Given the description of an element on the screen output the (x, y) to click on. 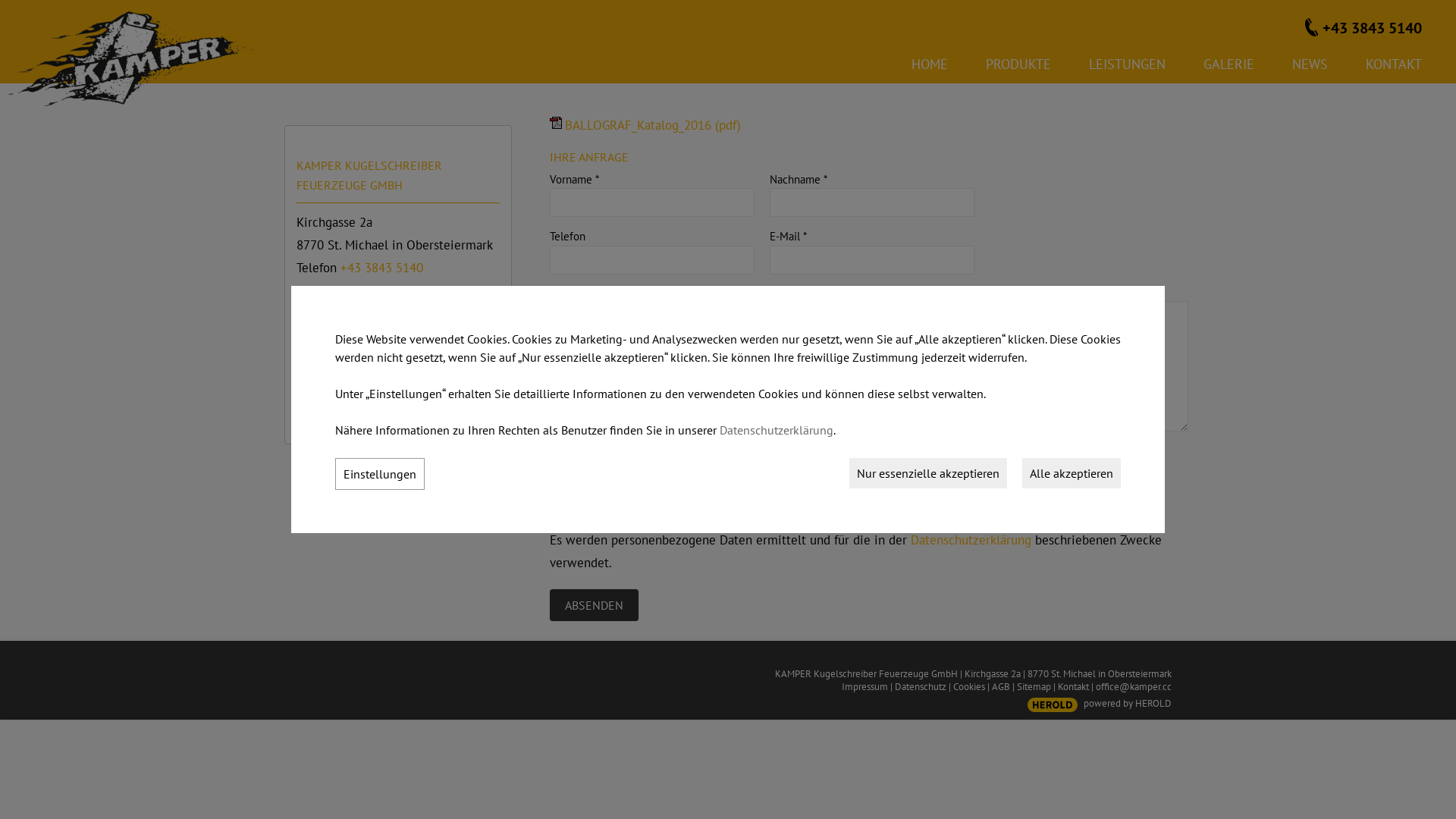
GALERIE Element type: text (1228, 67)
Absenden Element type: text (593, 605)
+43 3843 5140 Element type: text (381, 267)
LEISTUNGEN Element type: text (1126, 67)
NEWS Element type: text (1309, 67)
Nur essenzielle akzeptieren Element type: text (928, 473)
office@kamper.cc Element type: text (336, 293)
BALLOGRAF_Katalog_2016 (pdf) Element type: text (644, 124)
powered by HEROLD Element type: text (1127, 702)
Cookies Element type: text (969, 686)
Datenschutz Element type: text (920, 686)
KONTAKT Element type: text (1393, 67)
Einstellungen Element type: text (379, 473)
PRODUKTE Element type: text (1018, 67)
Absenden Element type: hover (593, 605)
AGB Element type: text (1000, 686)
Impressum Element type: text (864, 686)
ClearSense AT Version: 3.32 Element type: hover (1052, 704)
Kontakt Element type: text (1072, 686)
office@kamper.cc Element type: text (1133, 686)
HOME Element type: text (929, 67)
+43 3843 5140 Element type: text (1362, 27)
Sitemap Element type: text (1033, 686)
Alle akzeptieren Element type: text (1071, 473)
